Given the description of an element on the screen output the (x, y) to click on. 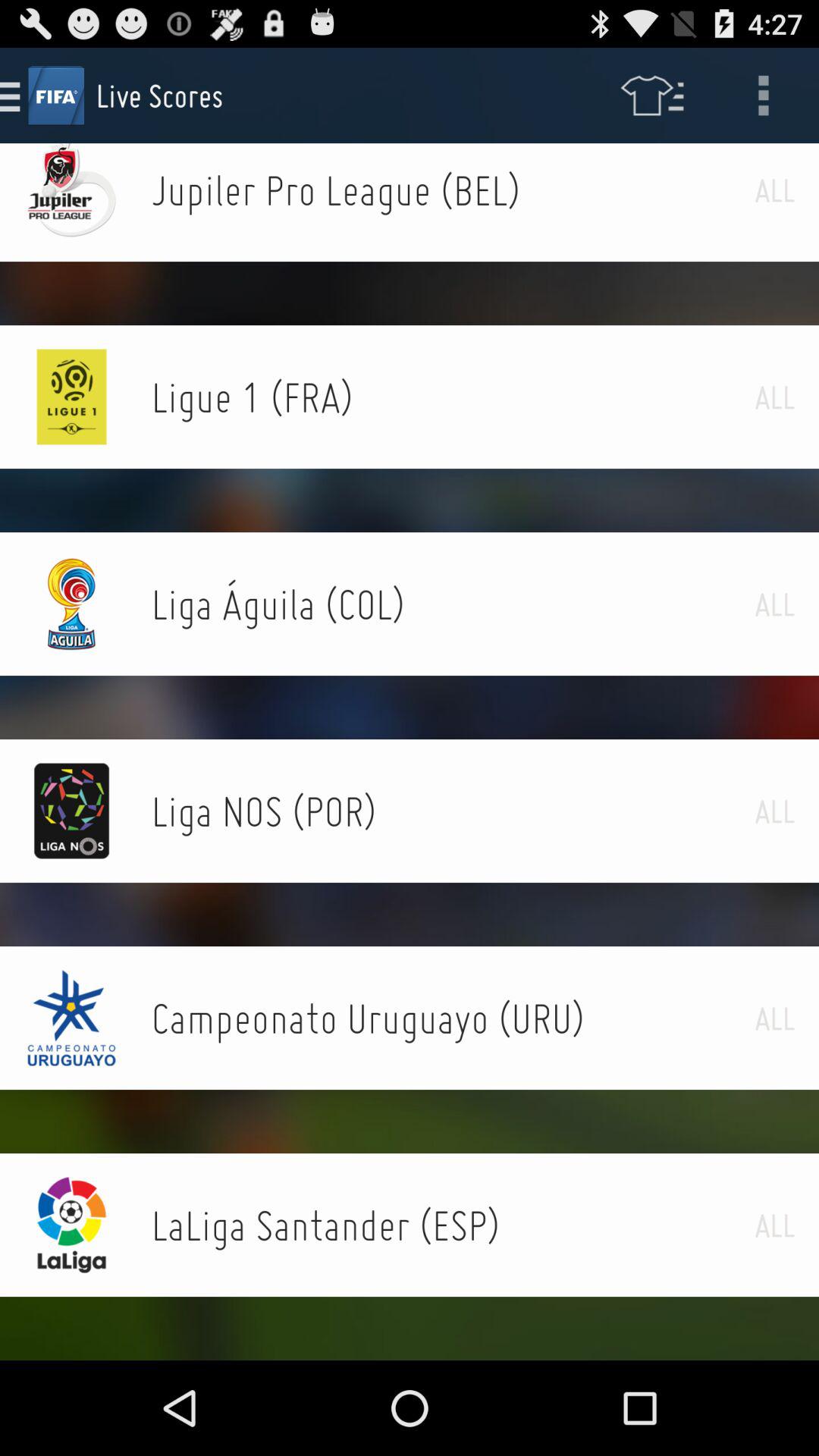
select the icon next to the all item (452, 810)
